Given the description of an element on the screen output the (x, y) to click on. 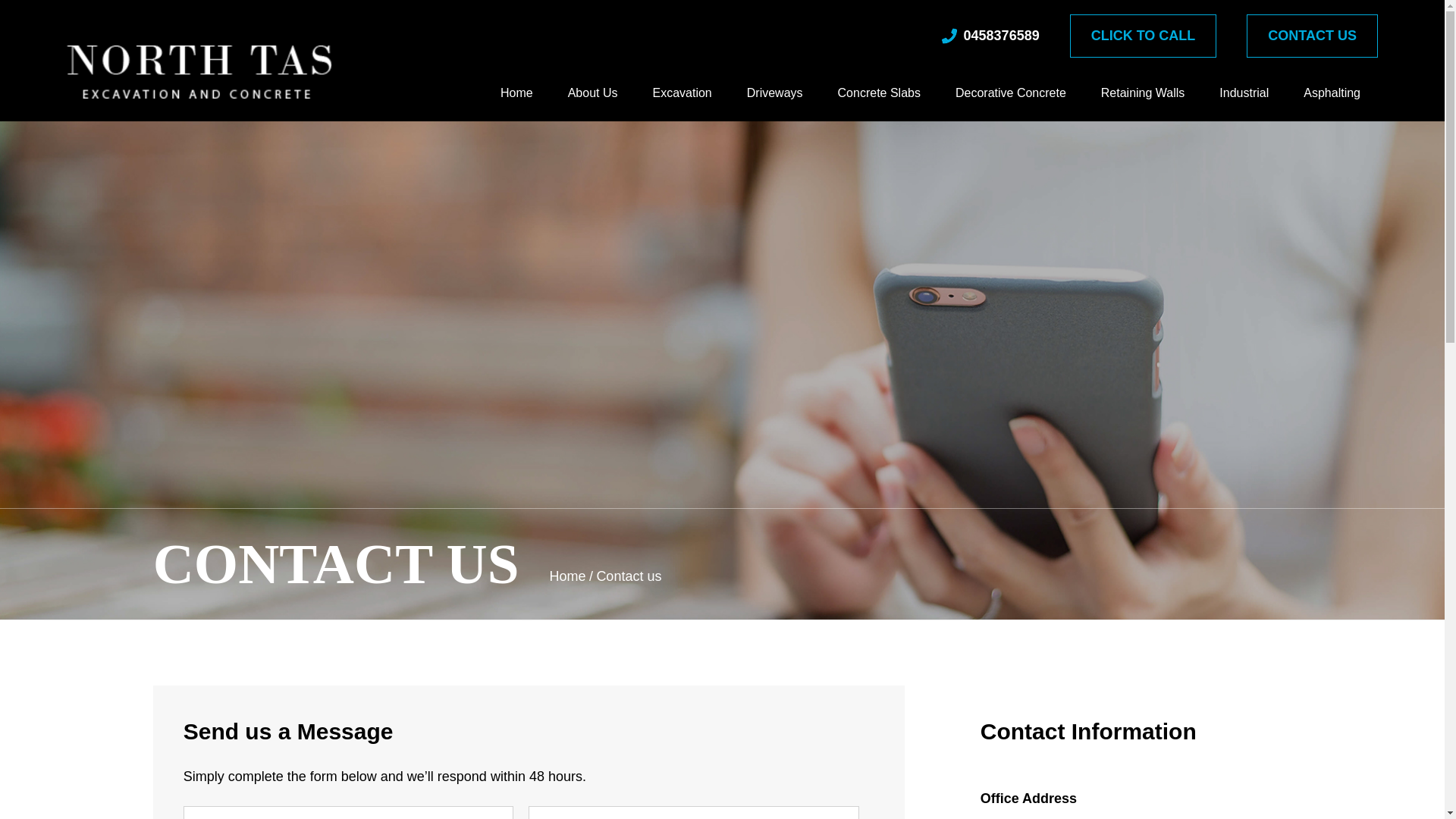
CONTACT US Element type: text (1311, 35)
CLICK TO CALL Element type: text (1143, 35)
Home Element type: text (516, 102)
About Us Element type: text (592, 102)
Decorative Concrete Element type: text (1010, 102)
Retaining Walls Element type: text (1142, 102)
Asphalting Element type: text (1331, 102)
Driveways Element type: text (774, 102)
Skip to content Element type: text (0, 0)
0458376589 Element type: text (990, 35)
Concrete Slabs Element type: text (879, 102)
Home Element type: text (567, 575)
Excavation Element type: text (682, 102)
Industrial Element type: text (1243, 102)
